Given the description of an element on the screen output the (x, y) to click on. 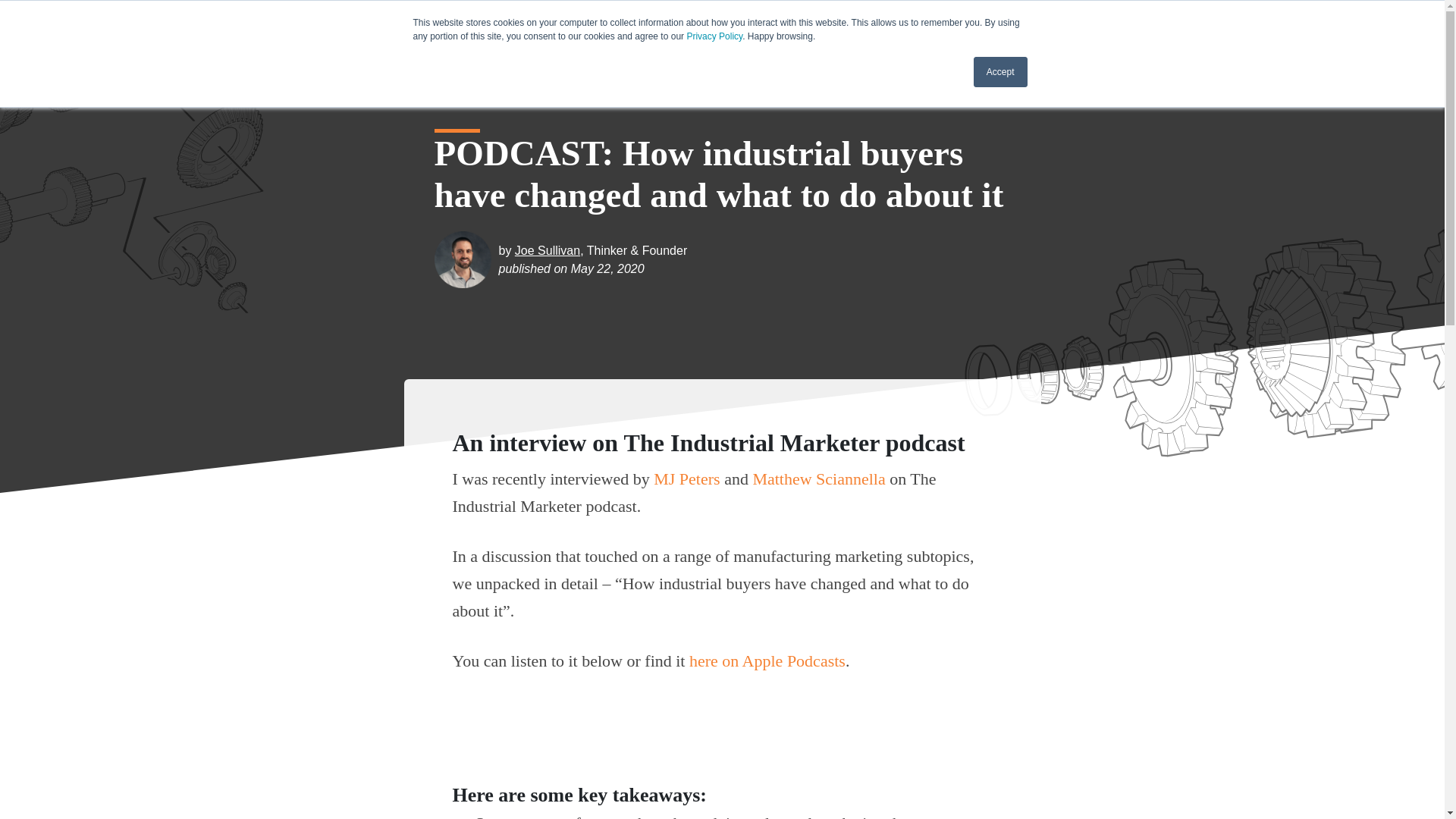
Book a strategy call (1055, 26)
Accept (1000, 71)
Working together (544, 26)
Case studies (840, 26)
Podcast and events (731, 26)
Gorilla 76 (346, 26)
Careers (635, 26)
Privacy Policy (713, 36)
Joe Sullivan (547, 250)
Learning center (939, 26)
